Given the description of an element on the screen output the (x, y) to click on. 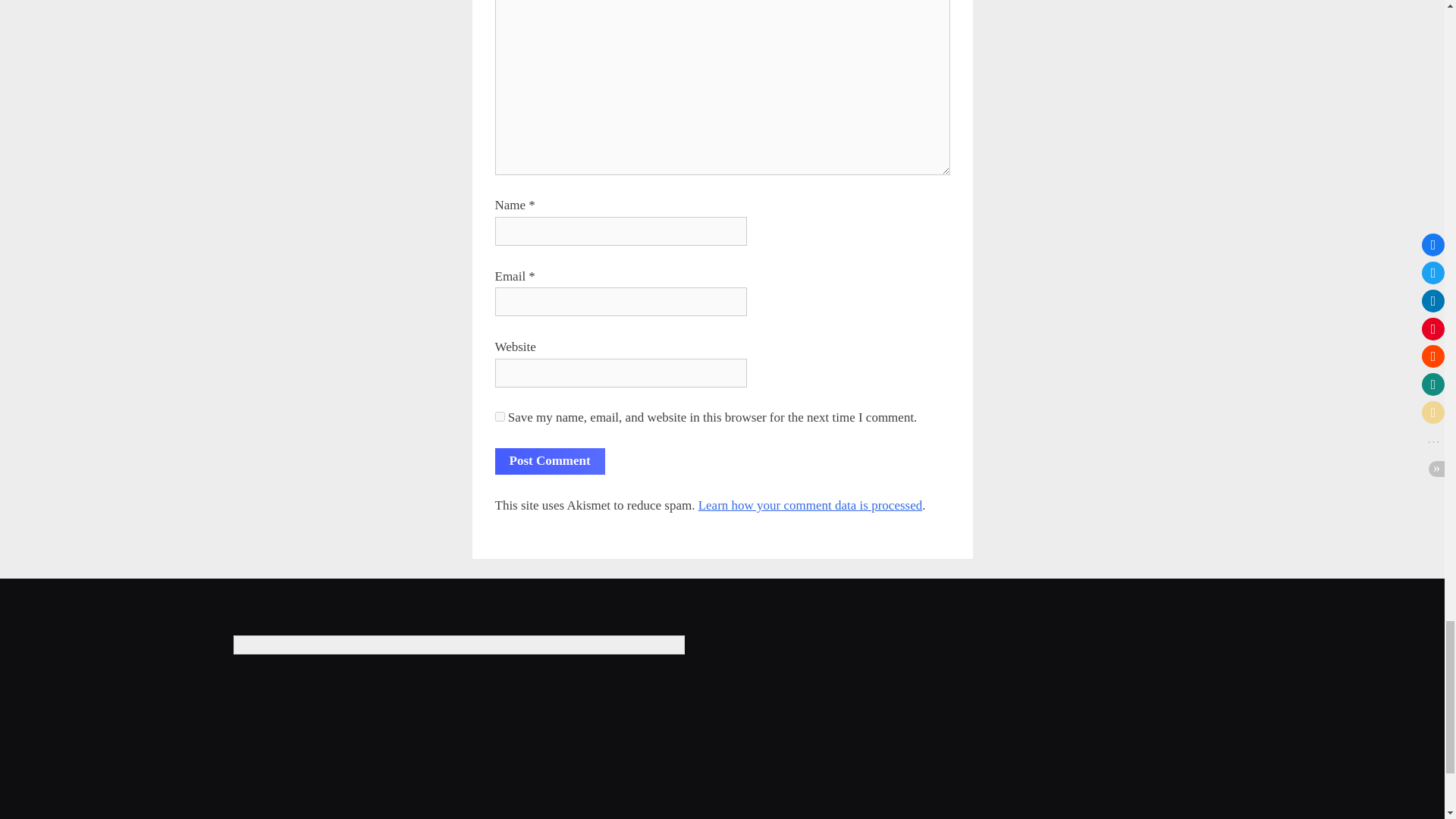
Post Comment (549, 461)
yes (499, 416)
Post Comment (549, 461)
Learn how your comment data is processed (810, 504)
